Given the description of an element on the screen output the (x, y) to click on. 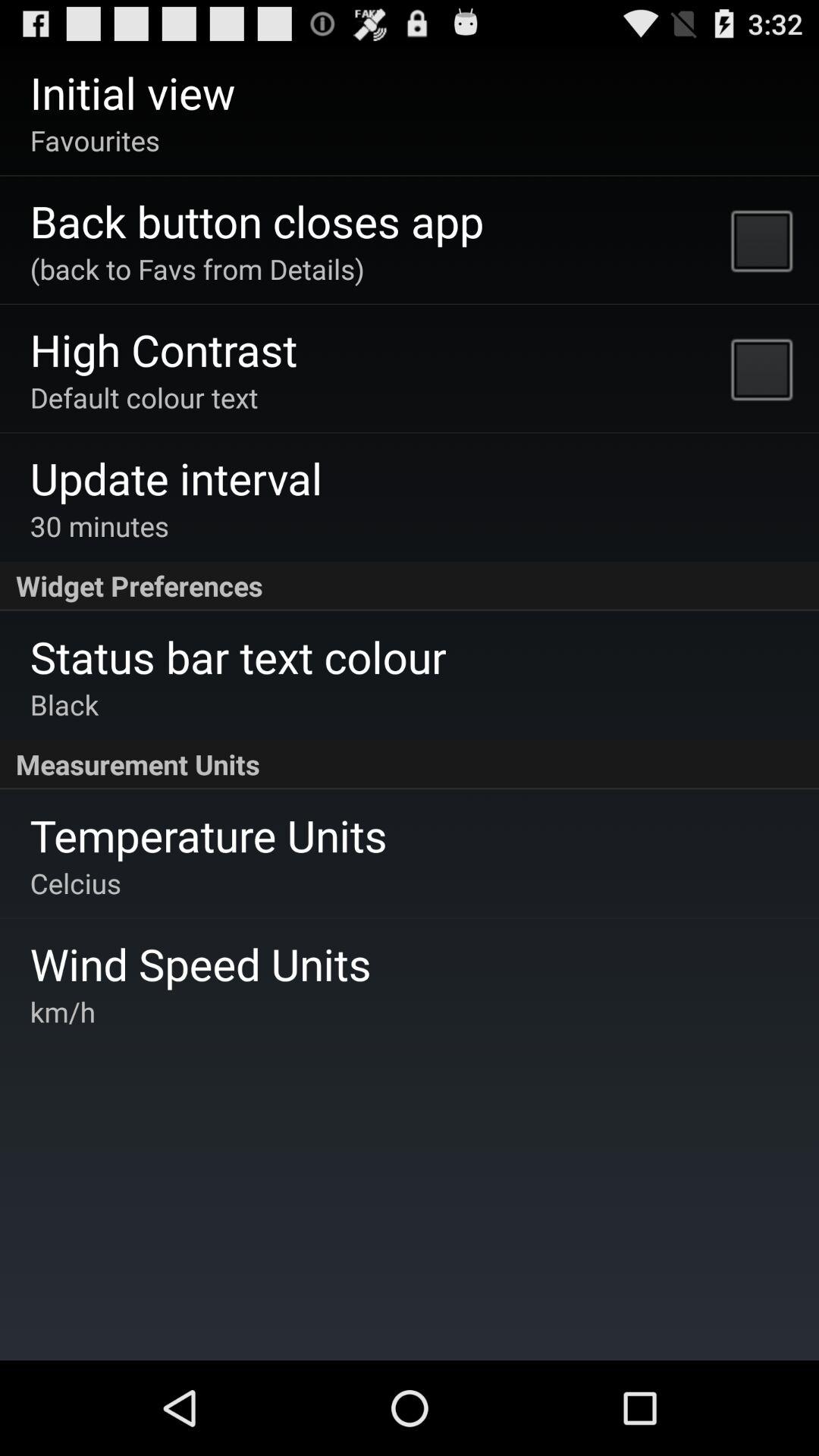
select item above the temperature units (409, 764)
